Given the description of an element on the screen output the (x, y) to click on. 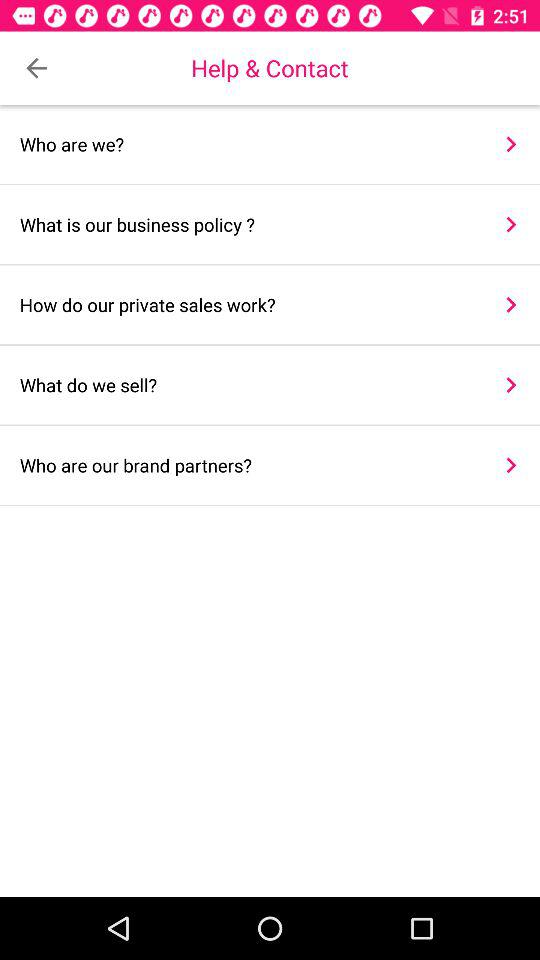
press the icon at the top left corner (36, 68)
